Given the description of an element on the screen output the (x, y) to click on. 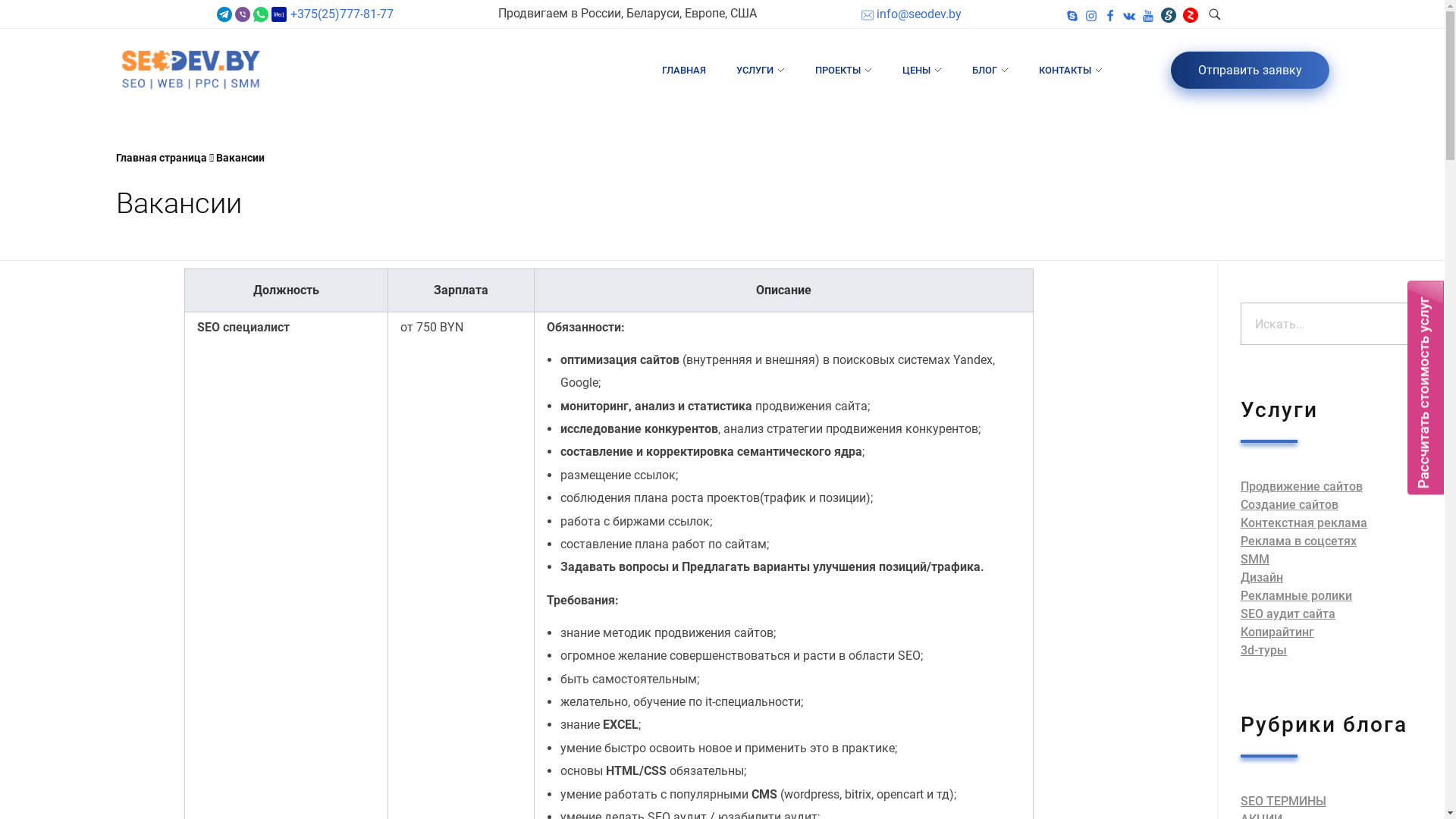
info@seodev.by Element type: text (911, 14)
+375(25)777-81-77 Element type: text (339, 14)
WhatsApp Element type: hover (260, 13)
viber Element type: hover (242, 13)
SMM Element type: text (1254, 559)
Search Element type: text (43, 14)
